Given the description of an element on the screen output the (x, y) to click on. 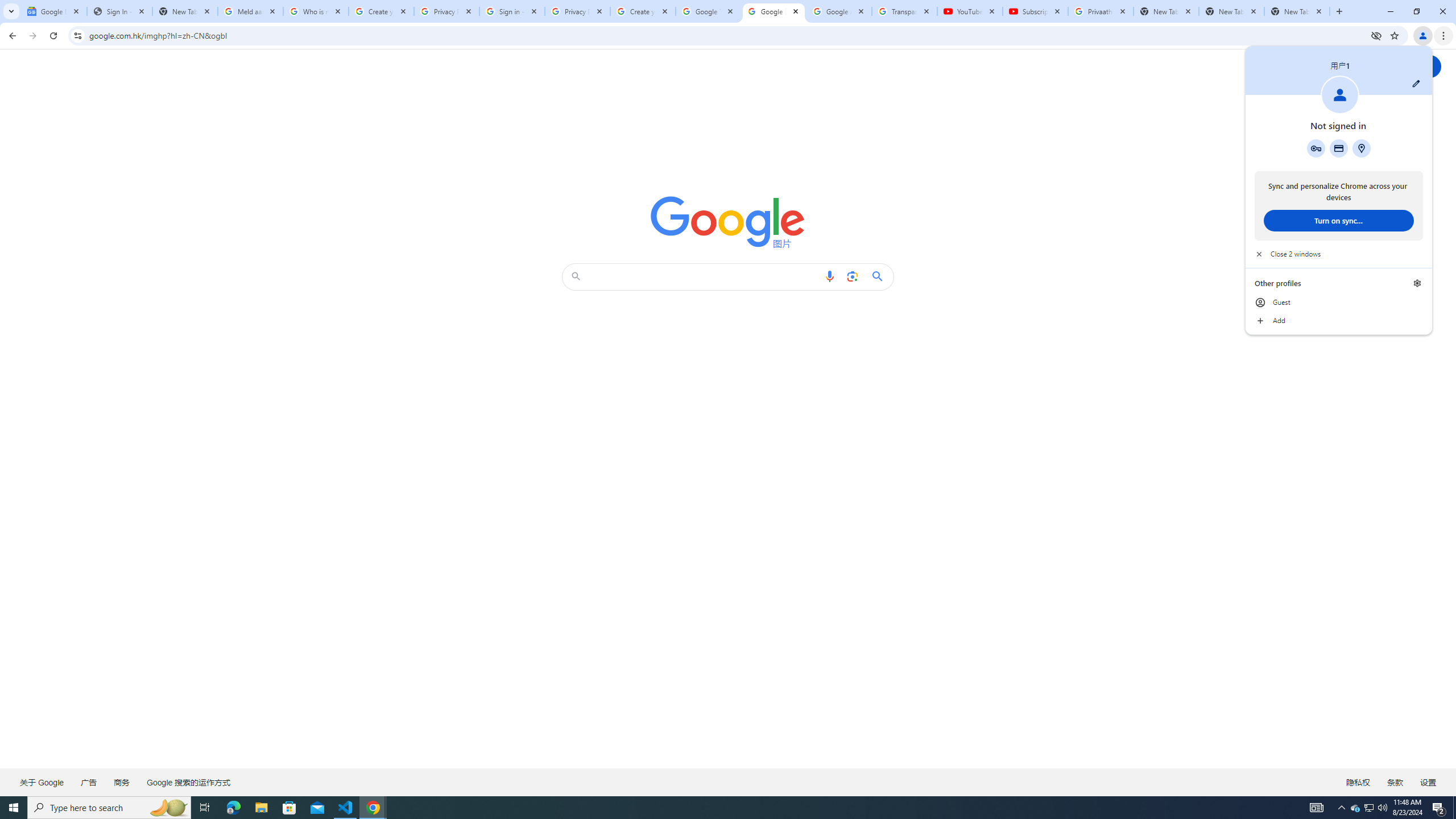
Show desktop (1454, 807)
Start (13, 807)
Manage profiles (1417, 283)
AutomationID: 4105 (1316, 807)
Task View (204, 807)
Action Center, 2 new notifications (1439, 807)
Running applications (717, 807)
Payment methods (1338, 148)
Q2790: 100% (1382, 807)
